Given the description of an element on the screen output the (x, y) to click on. 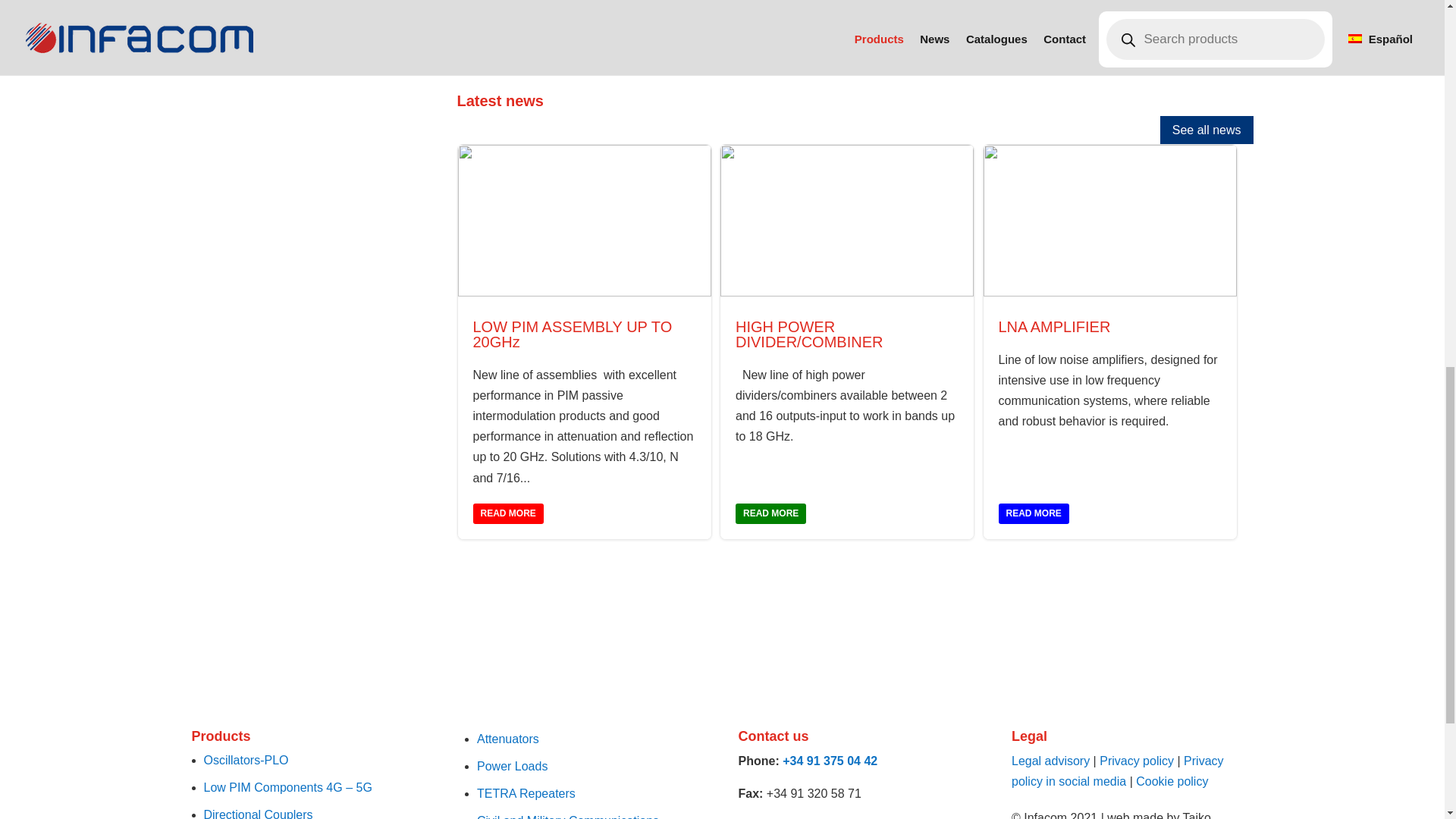
LOW PIM ASSEMBLY UP TO 20GHz (572, 334)
Filters (212, 17)
READ MORE (770, 513)
See all news (1206, 130)
READ MORE (508, 513)
